Given the description of an element on the screen output the (x, y) to click on. 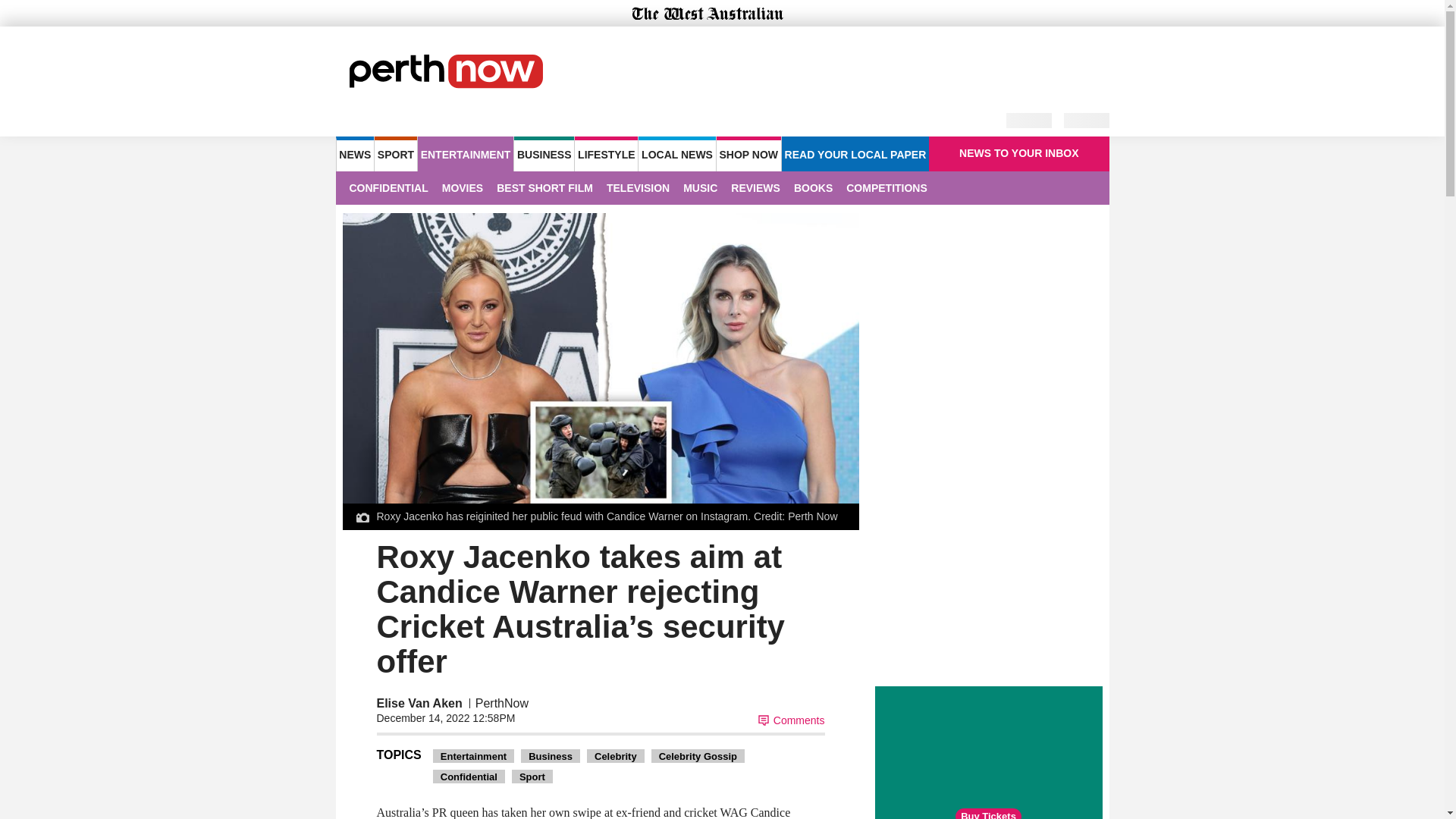
NEWS (354, 153)
BUSINESS (543, 153)
SPORT (395, 153)
ENTERTAINMENT (465, 153)
